Given the description of an element on the screen output the (x, y) to click on. 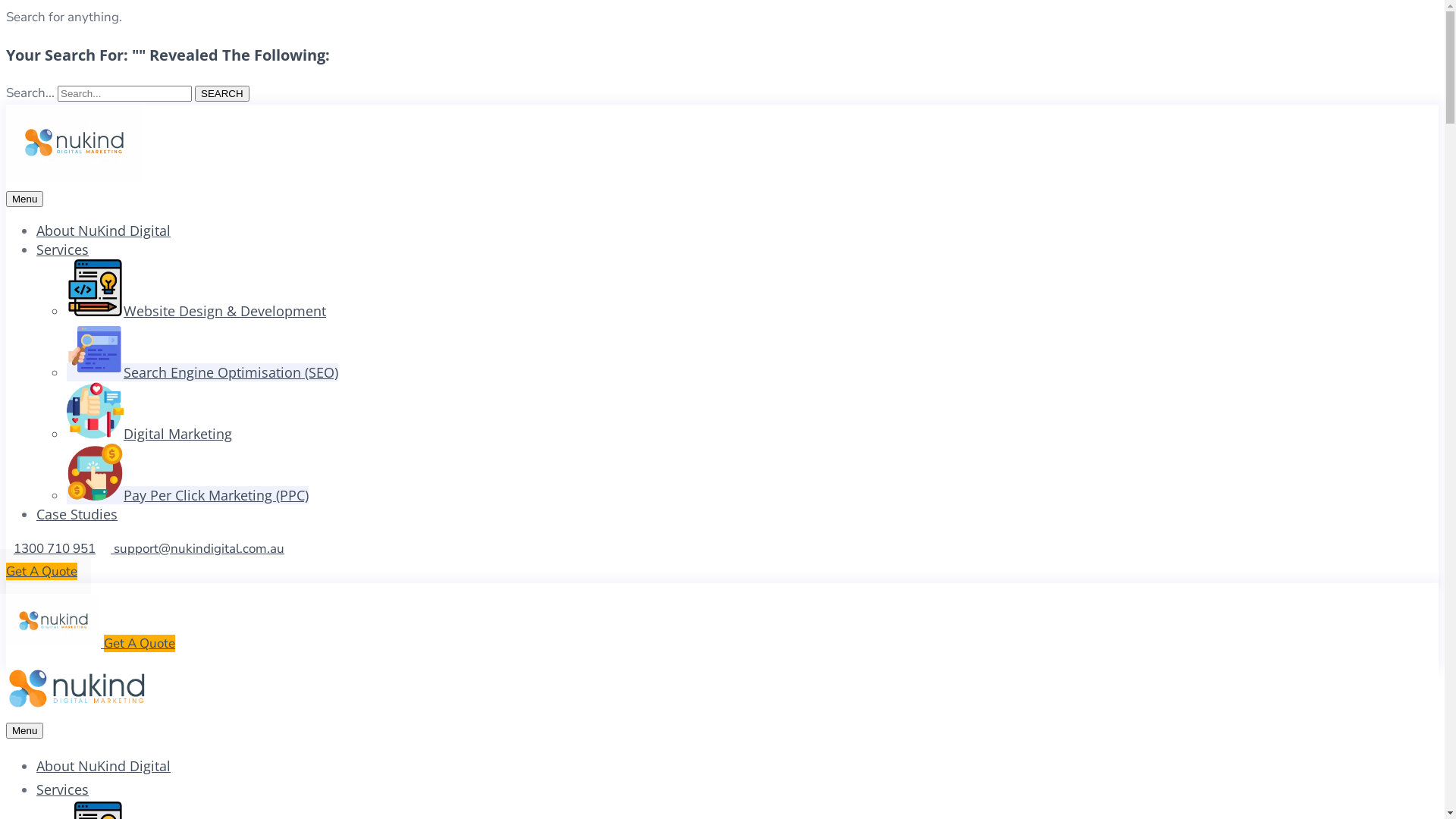
Case Studies Element type: text (76, 514)
Pay Per Click Marketing (PPC) Element type: text (187, 495)
Services Element type: text (62, 789)
SEARCH Element type: text (221, 93)
Website Design & Development Element type: text (196, 310)
support@nukindigital.com.au Element type: text (197, 548)
Menu Element type: text (24, 199)
Search Engine Optimisation (SEO) Element type: text (202, 372)
About NuKind Digital Element type: text (103, 230)
Menu Element type: text (24, 730)
1300 710 951 Element type: text (54, 548)
Get A Quote Element type: text (41, 571)
Services Element type: text (62, 249)
Digital Marketing Element type: text (149, 433)
About NuKind Digital Element type: text (103, 765)
Get A Quote Element type: text (139, 643)
